Given the description of an element on the screen output the (x, y) to click on. 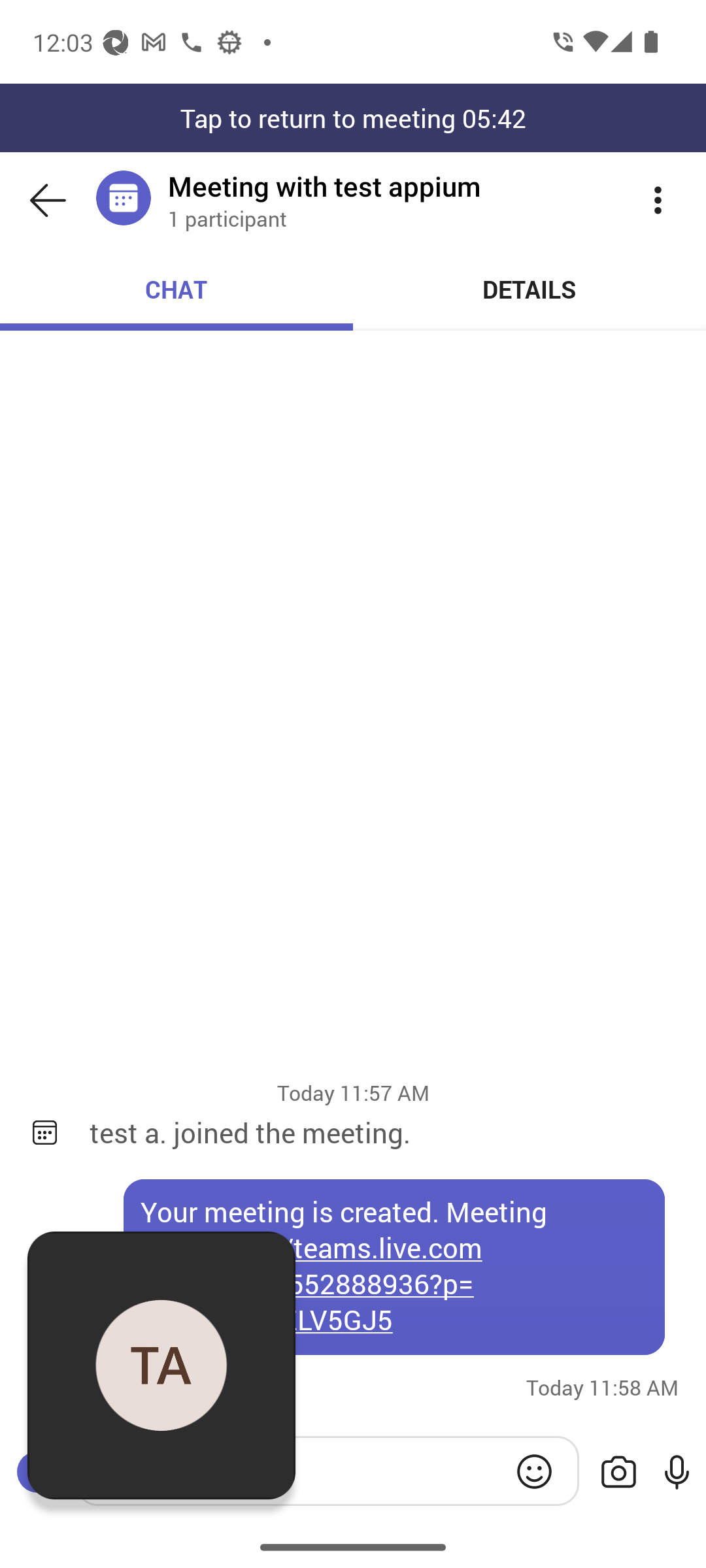
Tap to return to meeting 05:42 (353, 117)
Back (48, 199)
More options (657, 199)
Details DETAILS (529, 288)
test a. joined the meeting. (383, 1131)
Button for loading camera action functionality (618, 1471)
GIFs and emojis picker (533, 1471)
